Given the description of an element on the screen output the (x, y) to click on. 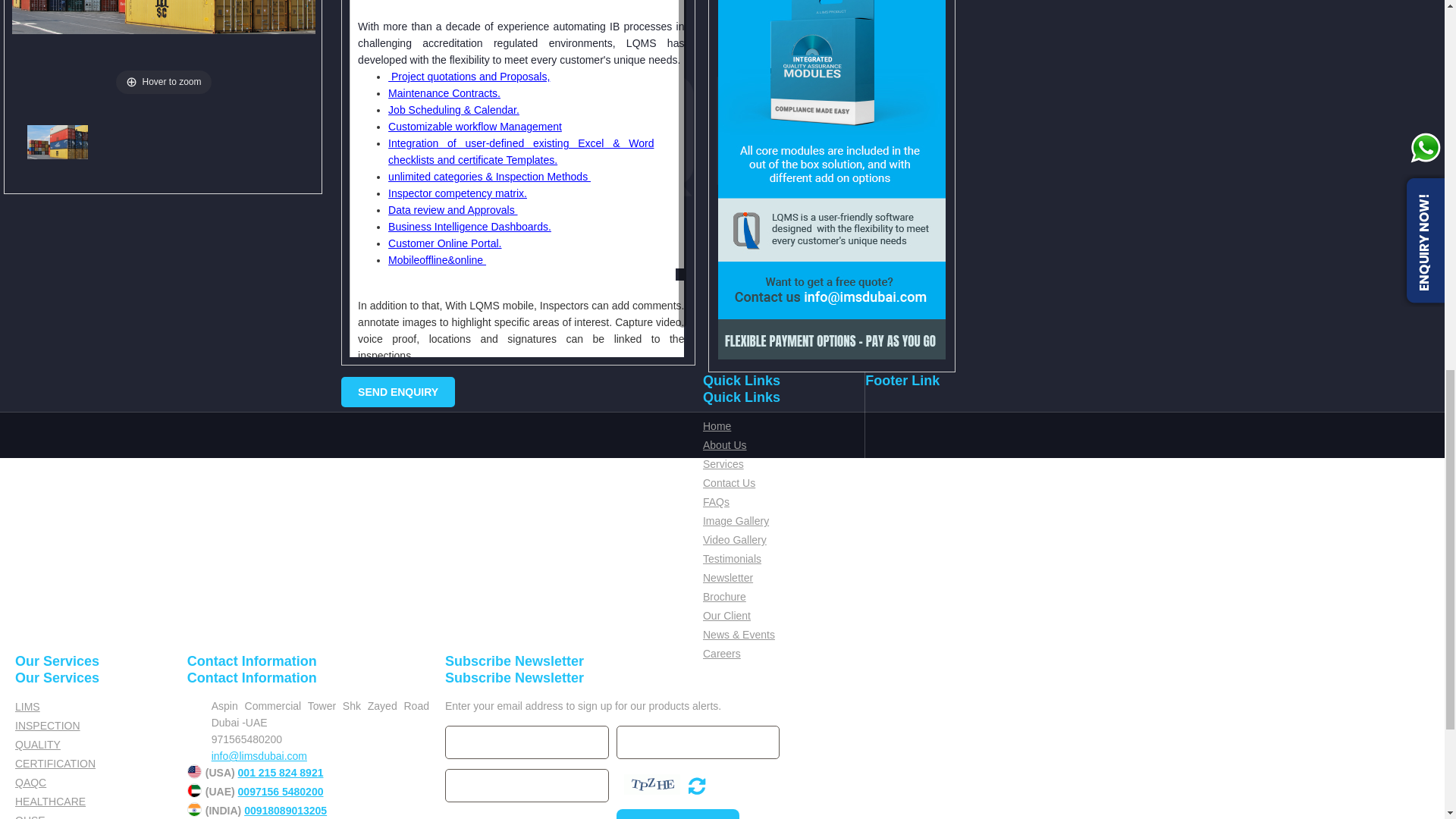
Subscribe (677, 814)
